Given the description of an element on the screen output the (x, y) to click on. 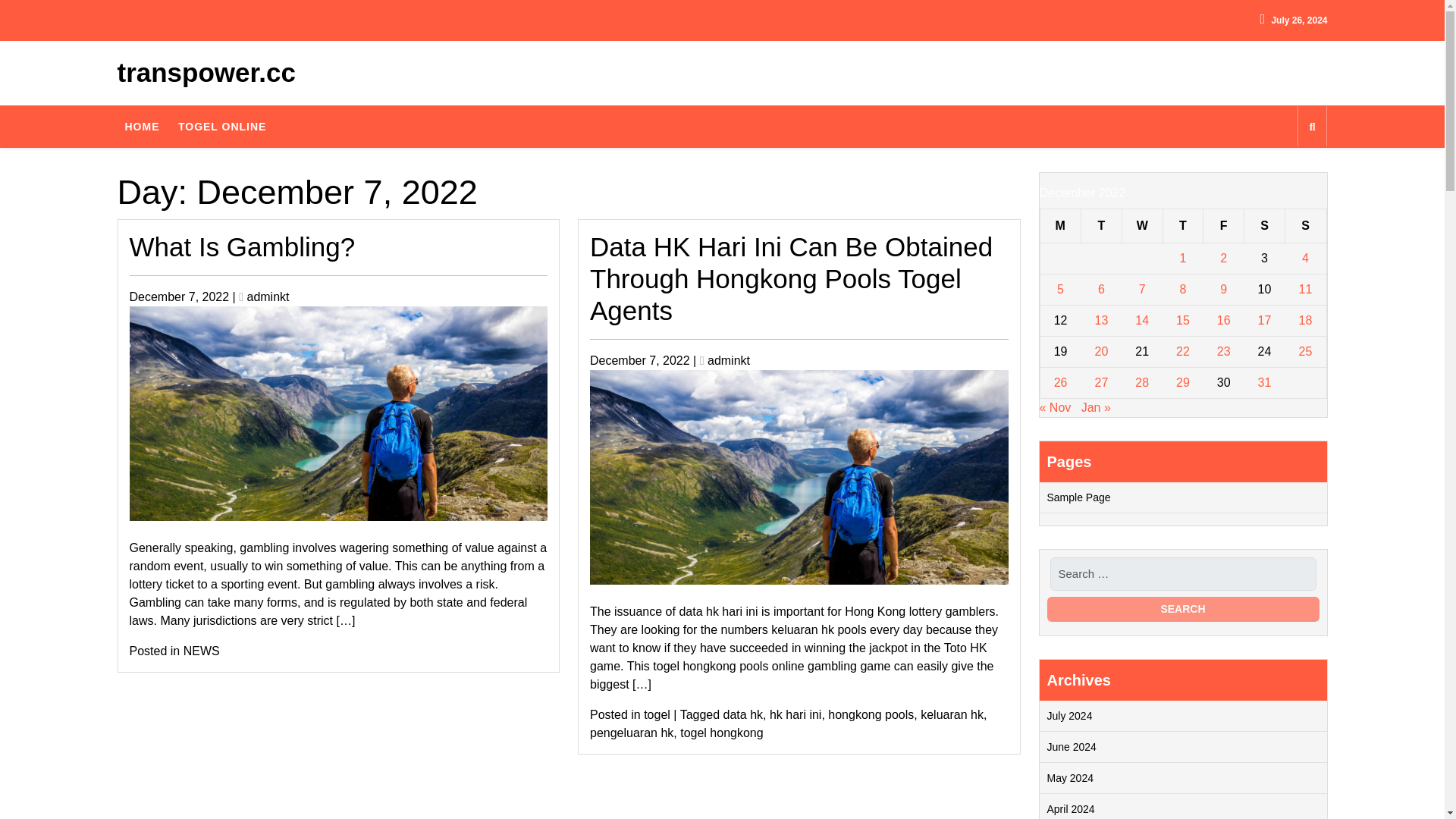
December 7, 2022 (178, 295)
What Is Gambling? (242, 246)
23 (1223, 350)
NEWS (201, 650)
Friday (1224, 225)
Search (1182, 609)
18 (1305, 319)
Tuesday (1101, 225)
transpower.cc (205, 71)
Saturday (1264, 225)
17 (1264, 319)
14 (1141, 319)
data hk (742, 714)
togel (656, 714)
16 (1223, 319)
